Given the description of an element on the screen output the (x, y) to click on. 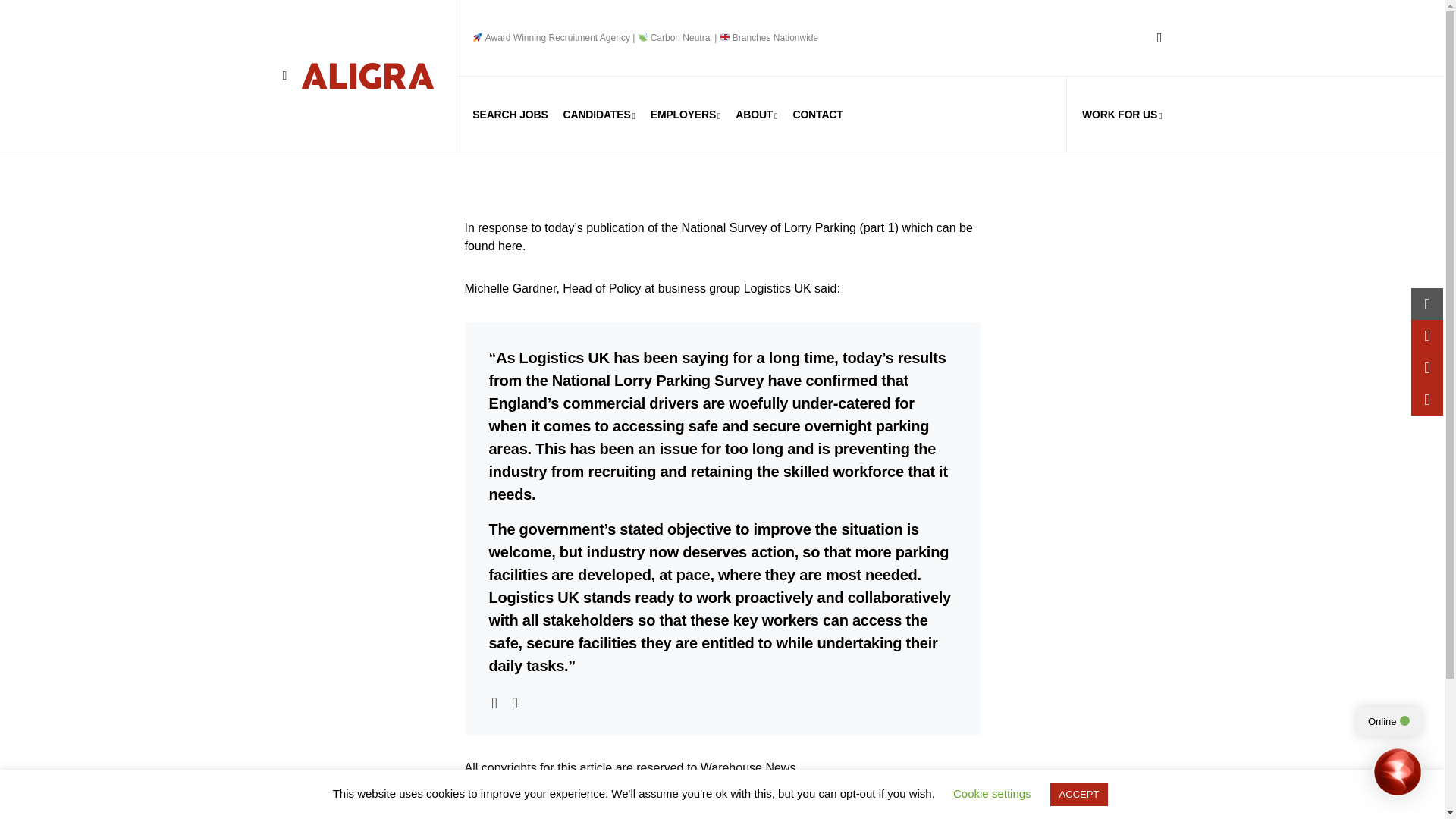
SEARCH JOBS (509, 114)
EMPLOYERS (685, 114)
CANDIDATES (598, 114)
